Given the description of an element on the screen output the (x, y) to click on. 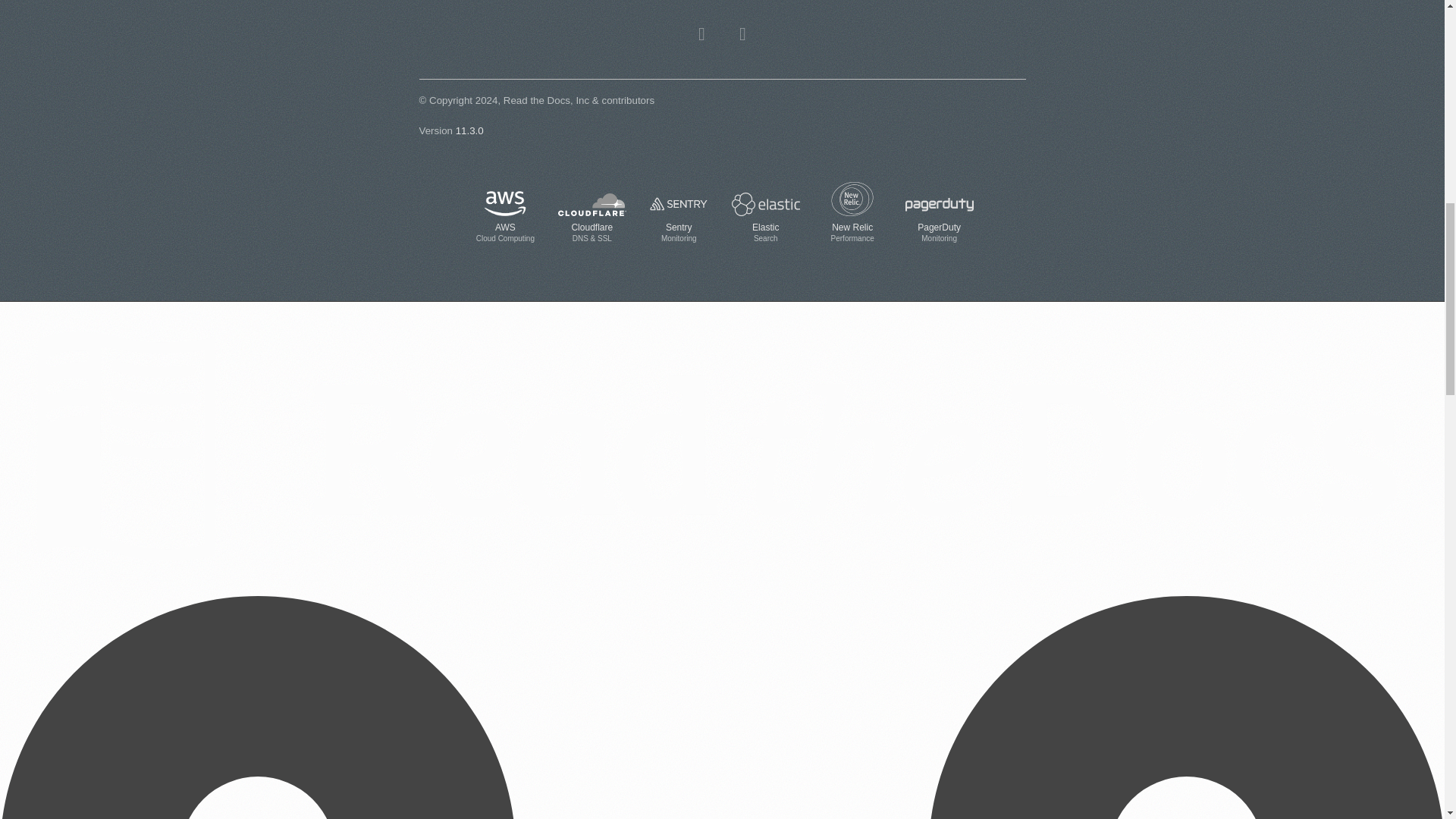
11.3.0 (505, 217)
